Given the description of an element on the screen output the (x, y) to click on. 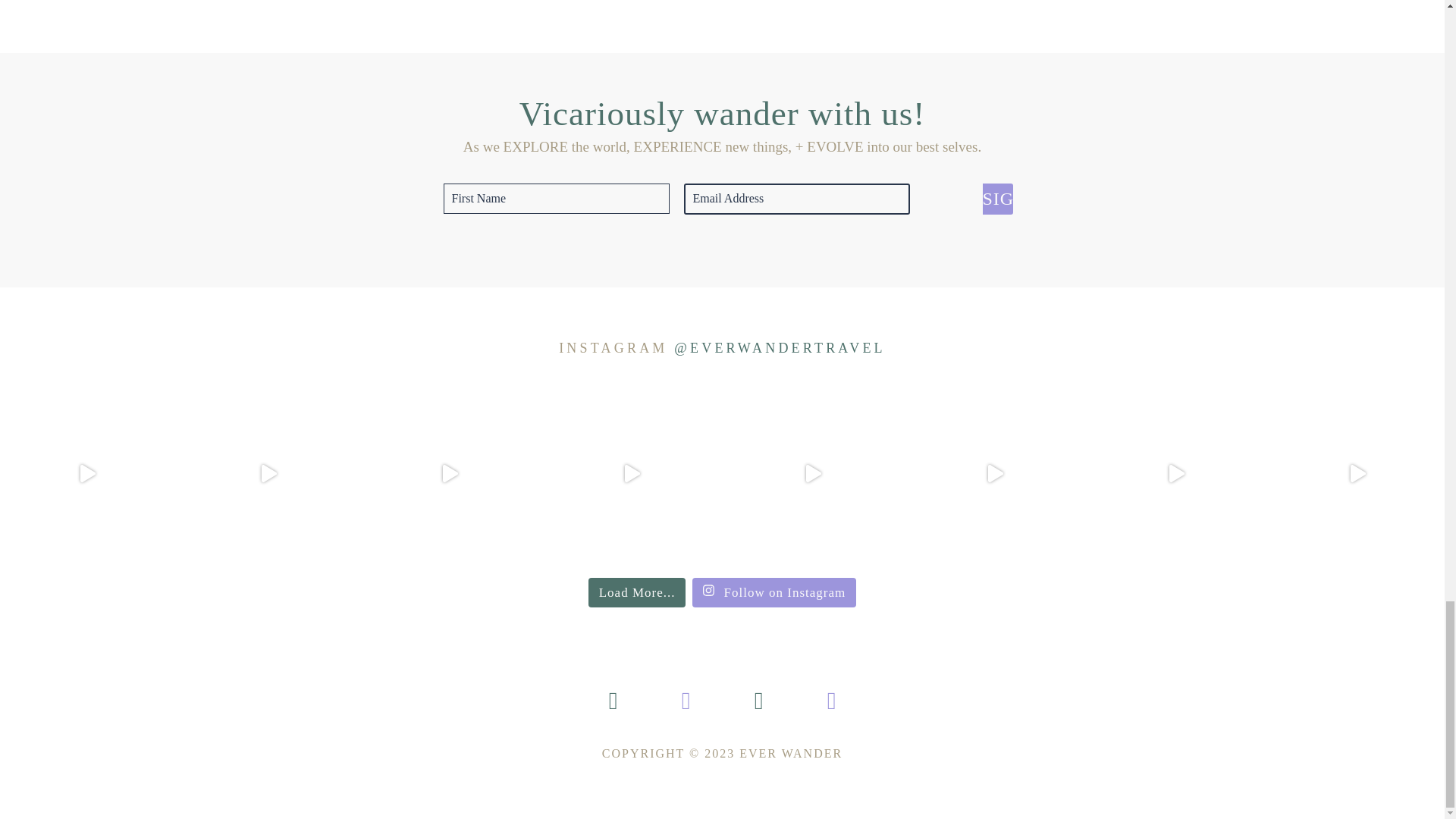
Sign Me Up! (997, 198)
